Given the description of an element on the screen output the (x, y) to click on. 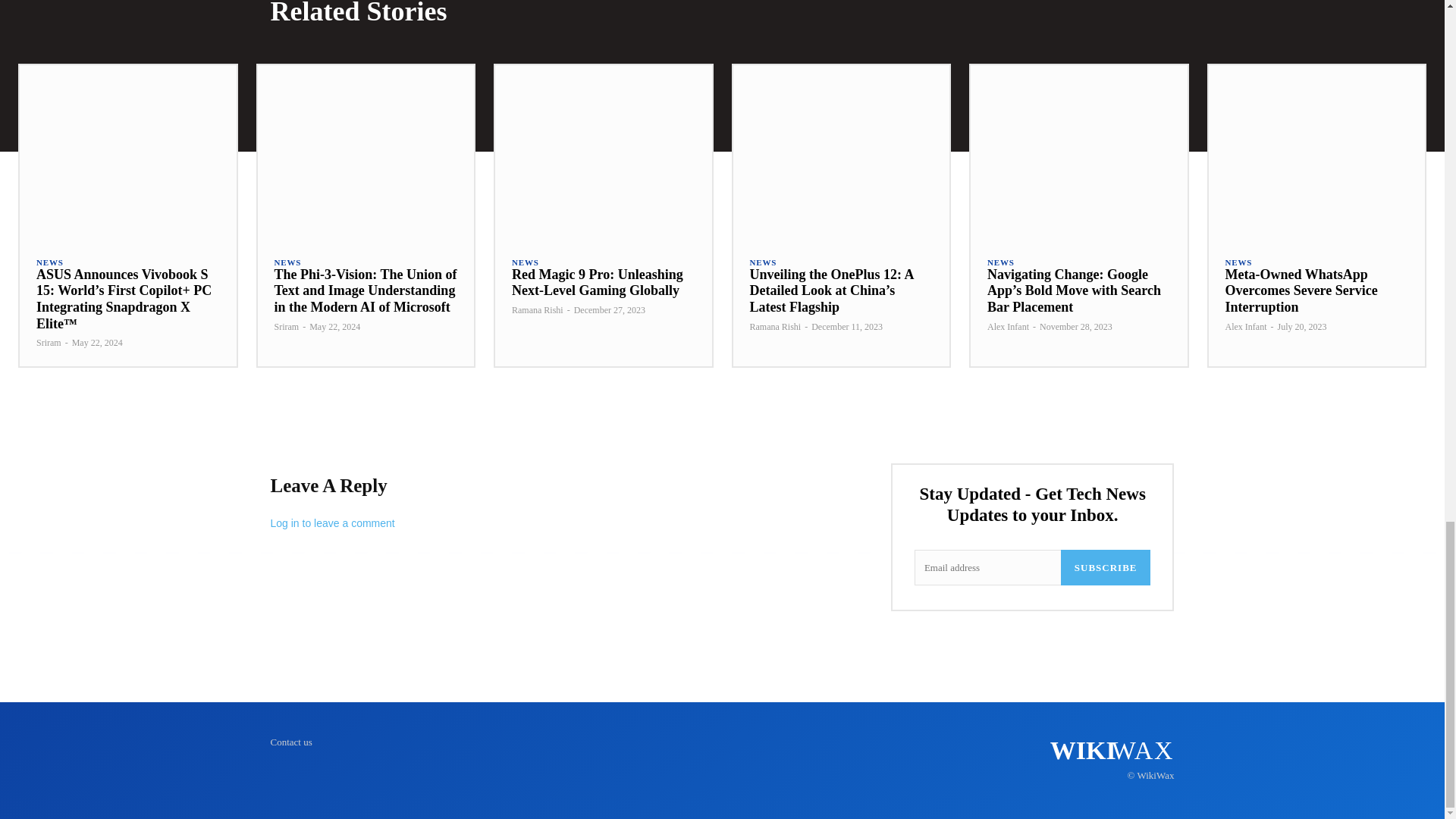
Red Magic 9 Pro: Unleashing Next-Level Gaming Globally (597, 282)
Meta-Owned WhatsApp Overcomes Severe Service Interruption (1316, 151)
Red Magic 9 Pro: Unleashing Next-Level Gaming Globally (603, 151)
Meta-Owned WhatsApp Overcomes Severe Service Interruption (1301, 290)
